Given the description of an element on the screen output the (x, y) to click on. 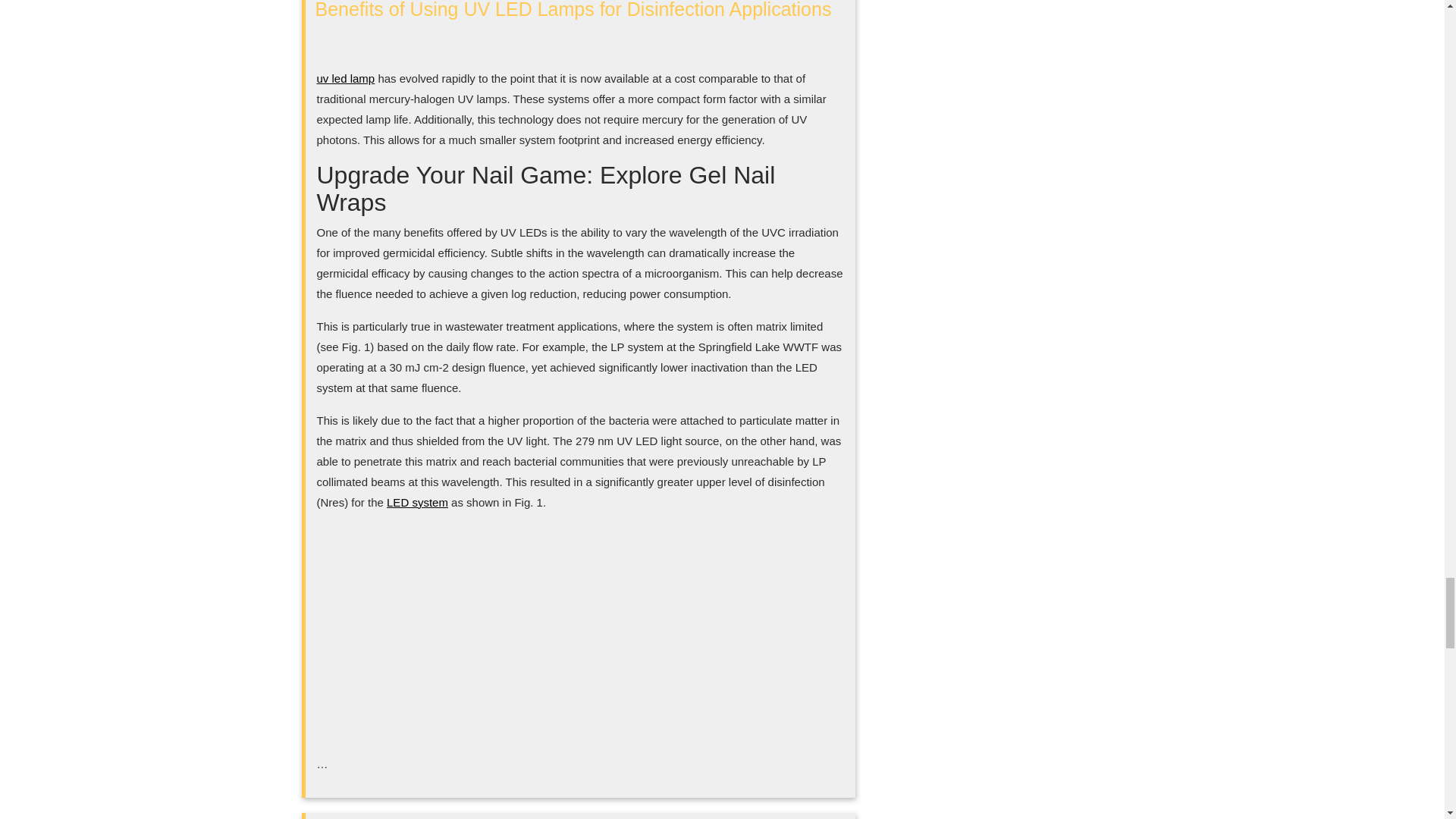
uv led lamp (346, 78)
Benefits of Using UV LED Lamps for Disinfection Applications (573, 9)
LED system (417, 502)
